Given the description of an element on the screen output the (x, y) to click on. 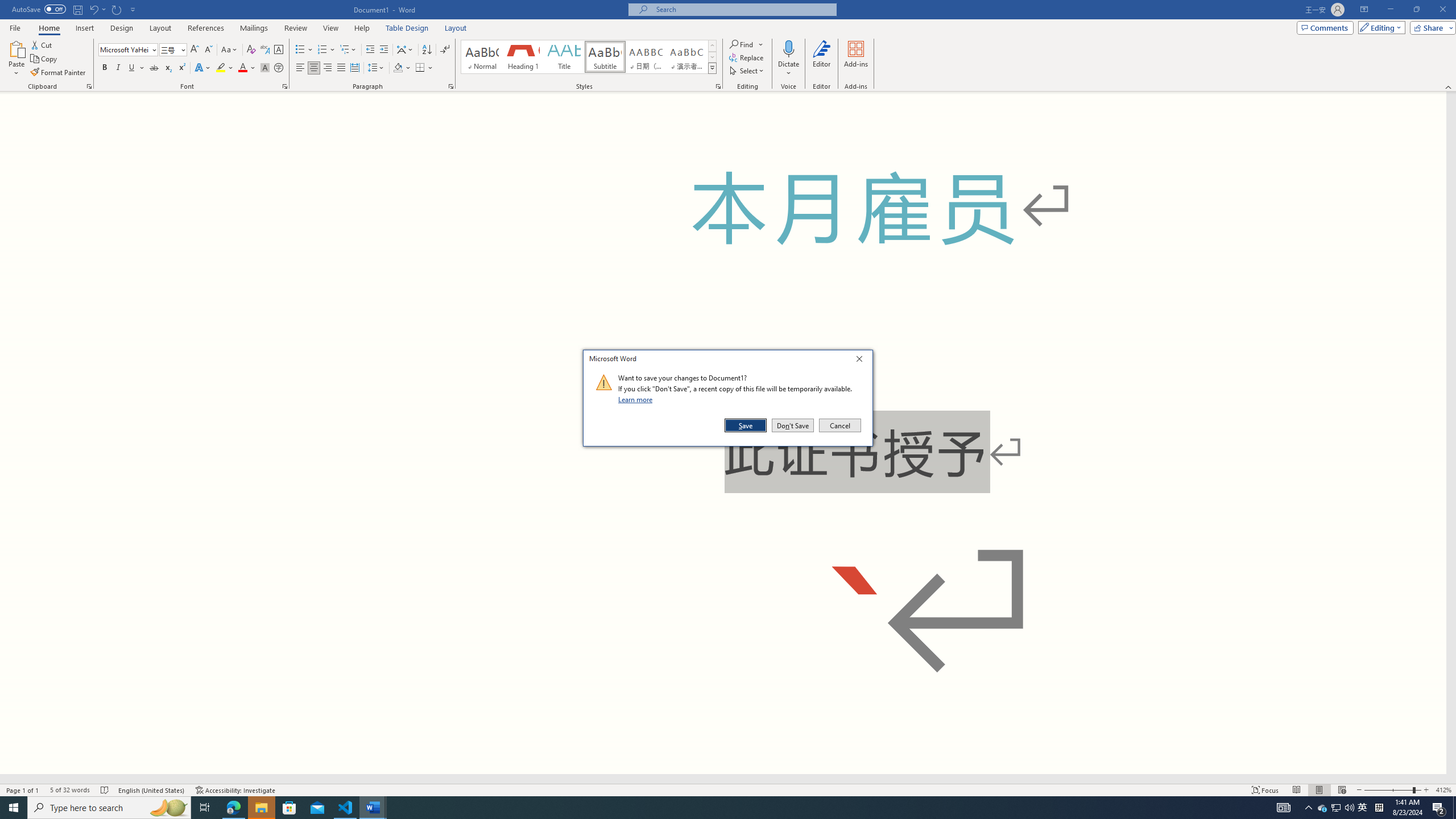
Phonetic Guide... (264, 49)
Line and Paragraph Spacing (376, 67)
File Explorer - 1 running window (261, 807)
Running applications (700, 807)
Font... (1362, 807)
